Given the description of an element on the screen output the (x, y) to click on. 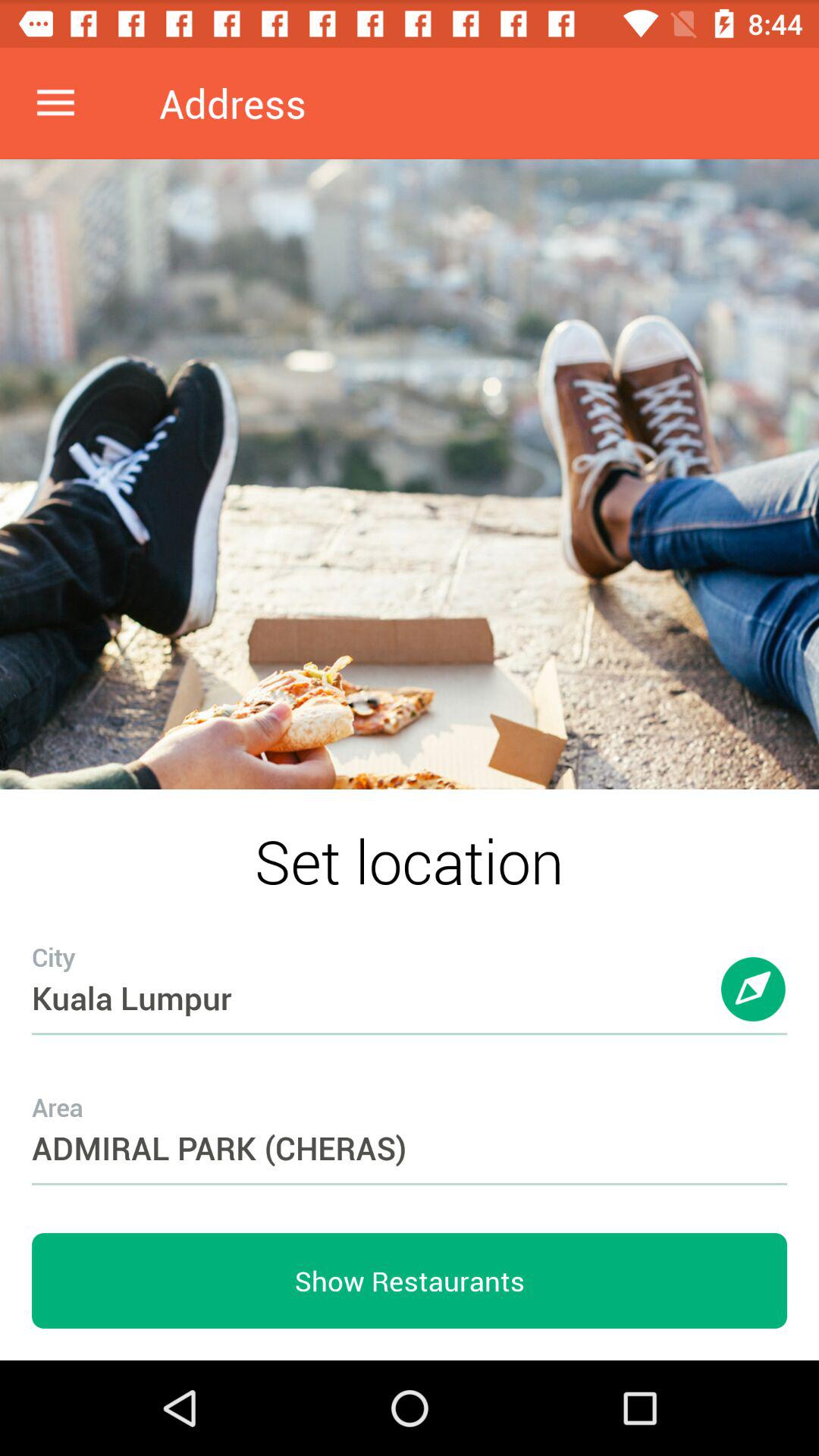
open menu (55, 103)
